Given the description of an element on the screen output the (x, y) to click on. 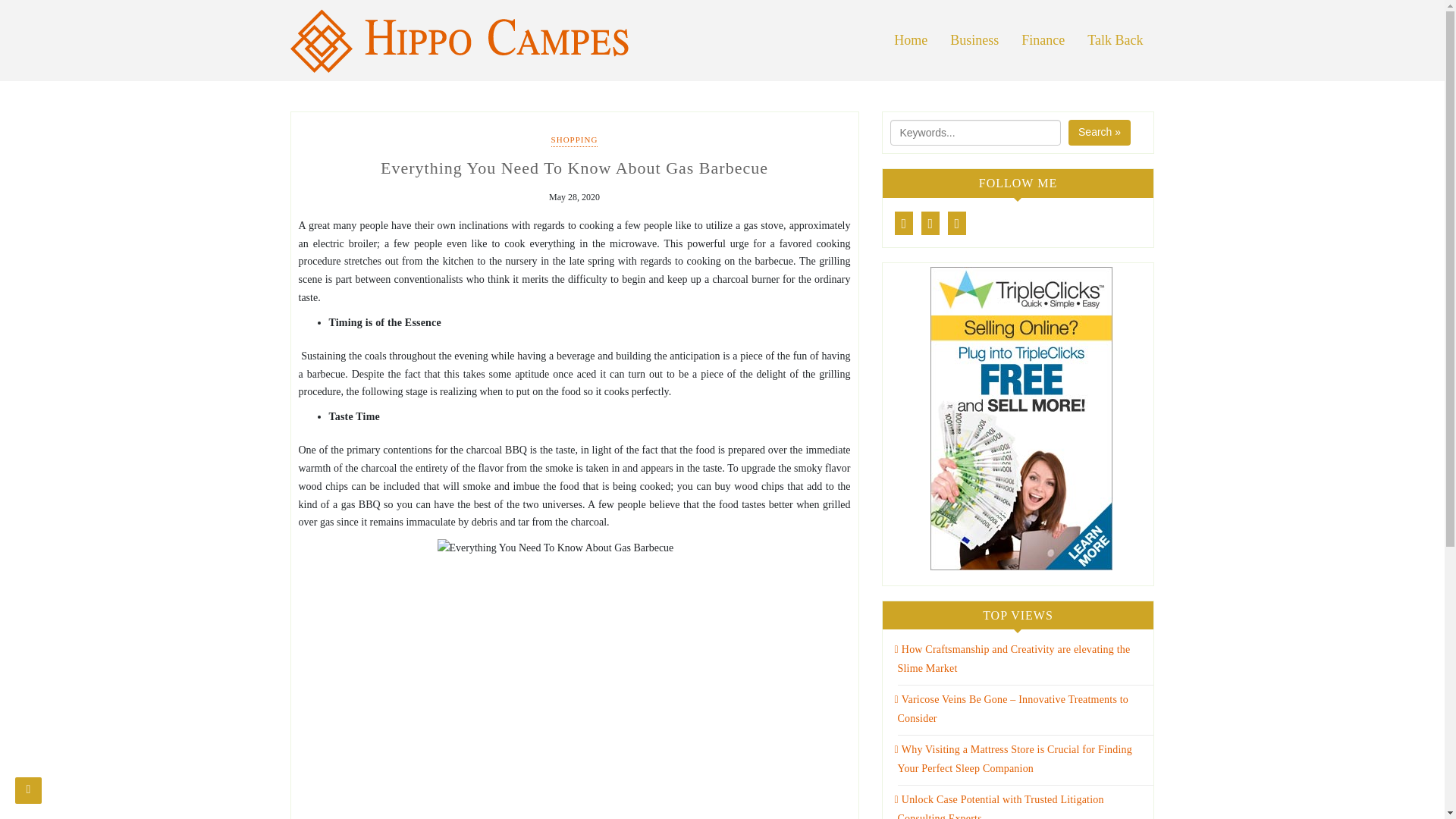
Business (974, 40)
Finance (1042, 40)
Home (910, 40)
SHOPPING (574, 141)
YouTube (956, 223)
Talk Back (1114, 40)
Twitter (930, 223)
Facebook (904, 223)
